Given the description of an element on the screen output the (x, y) to click on. 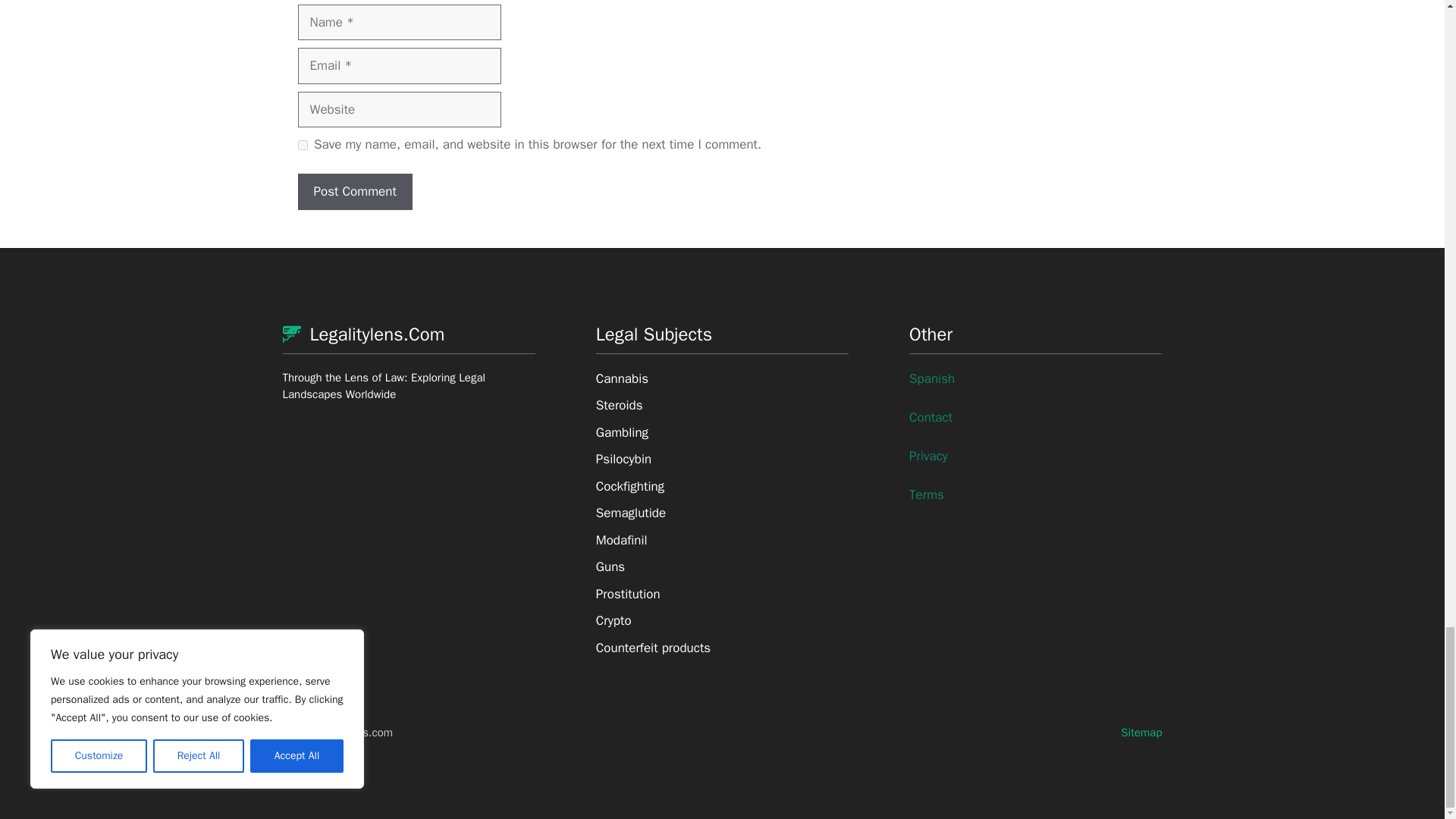
Post Comment (354, 191)
yes (302, 144)
